Given the description of an element on the screen output the (x, y) to click on. 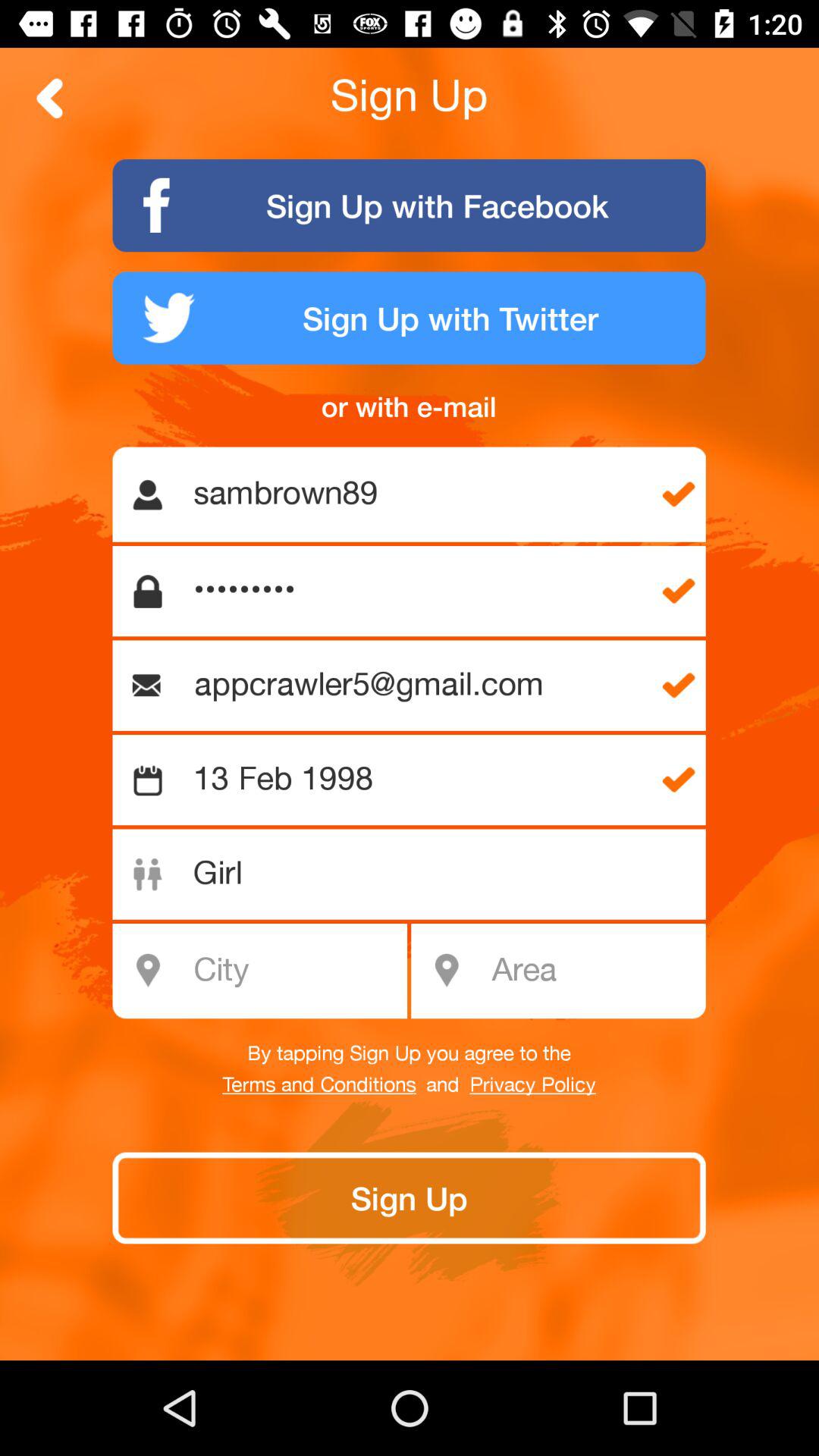
enter city here (268, 970)
